Given the description of an element on the screen output the (x, y) to click on. 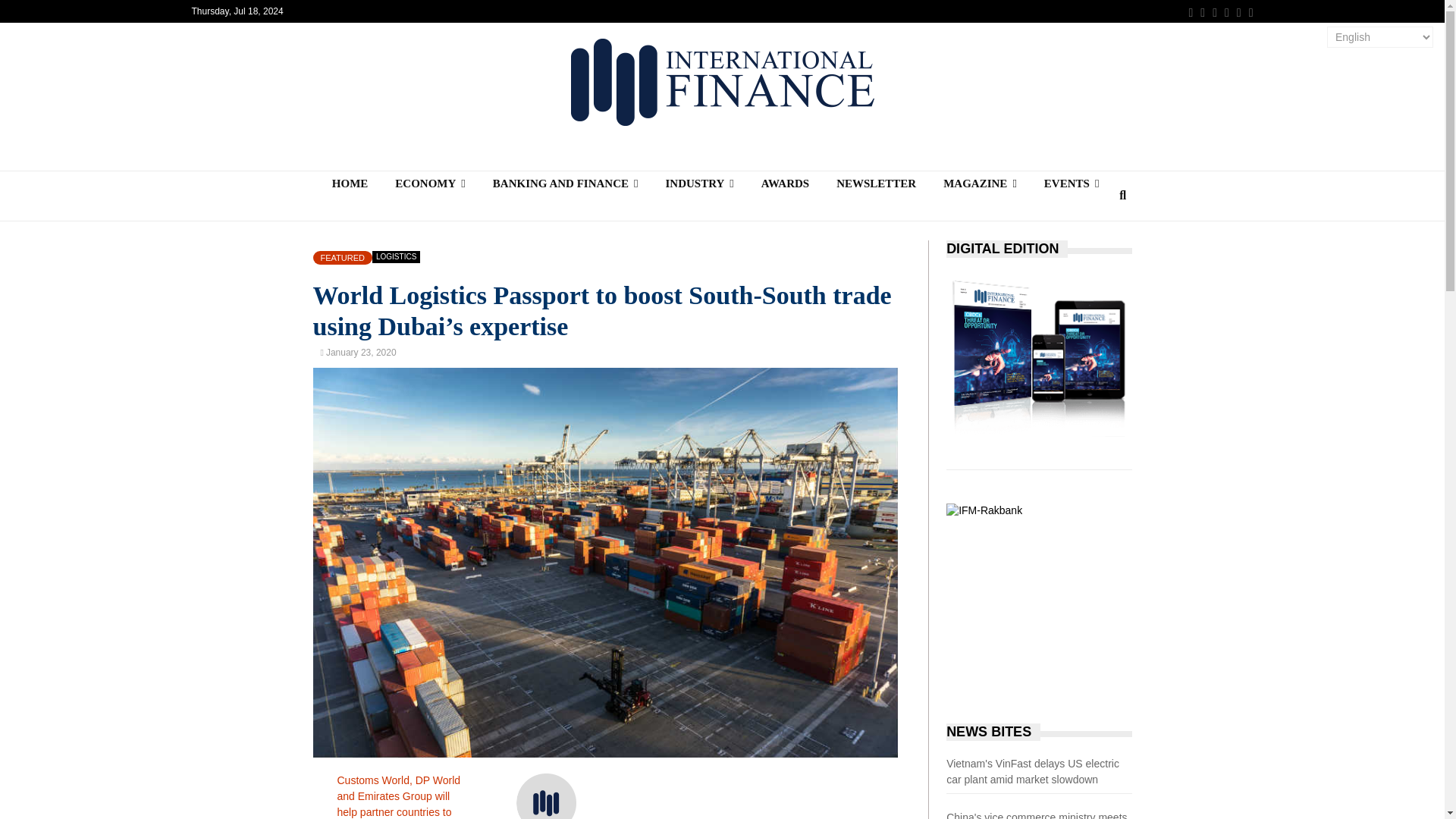
BANKING AND FINANCE (565, 183)
AWARDS (785, 183)
HOME (349, 183)
INDUSTRY (698, 183)
NEWSLETTER (876, 183)
MAGAZINE (980, 183)
ECONOMY (430, 183)
